Given the description of an element on the screen output the (x, y) to click on. 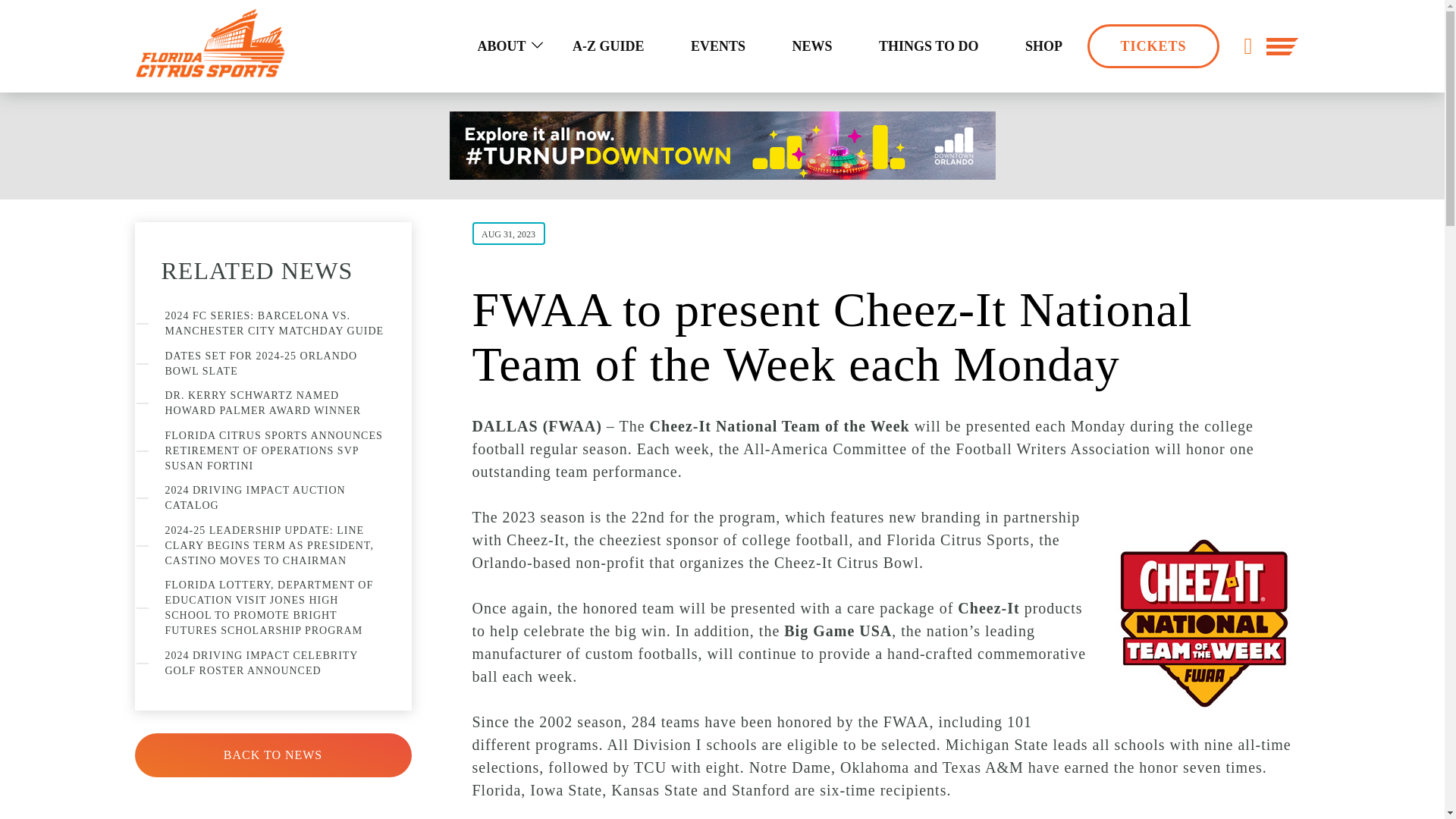
THINGS TO DO (927, 46)
TICKETS (1152, 45)
A-Z GUIDE (608, 46)
ABOUT (501, 46)
EVENTS (718, 46)
NEWS (812, 46)
